Given the description of an element on the screen output the (x, y) to click on. 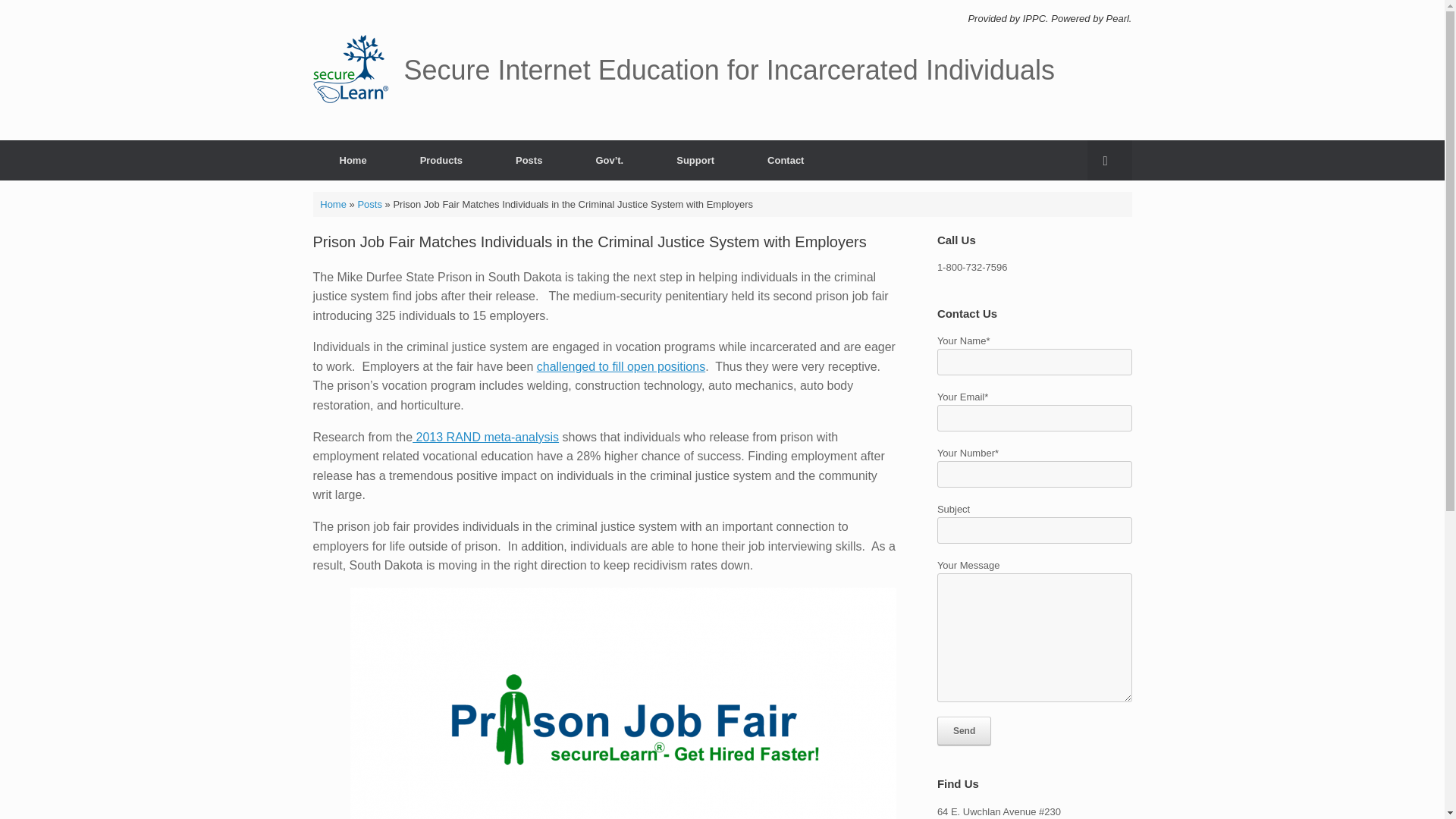
Products (441, 160)
challenged to fill open positions (620, 366)
Posts (368, 204)
Send (964, 730)
Home (353, 160)
Contact (785, 160)
Support (695, 160)
Secure Internet Education for Incarcerated Individuals (683, 70)
Send (964, 730)
Posts (529, 160)
